Given the description of an element on the screen output the (x, y) to click on. 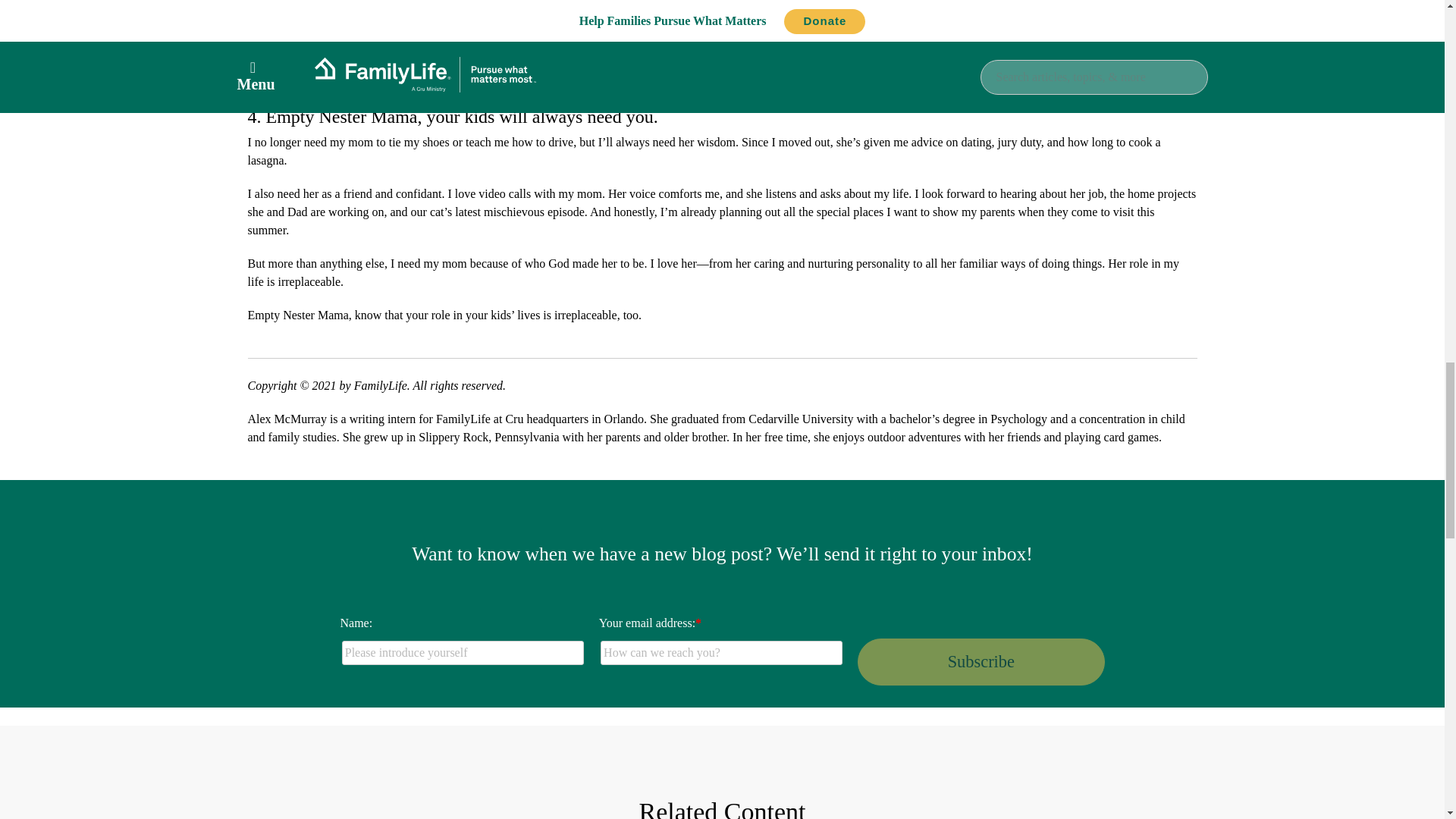
Subscribe (980, 661)
click to join (980, 661)
Please introduce yourself (462, 652)
How can we reach you? (721, 652)
set boundaries (890, 44)
Romans 8:38-39 (839, 62)
